Given the description of an element on the screen output the (x, y) to click on. 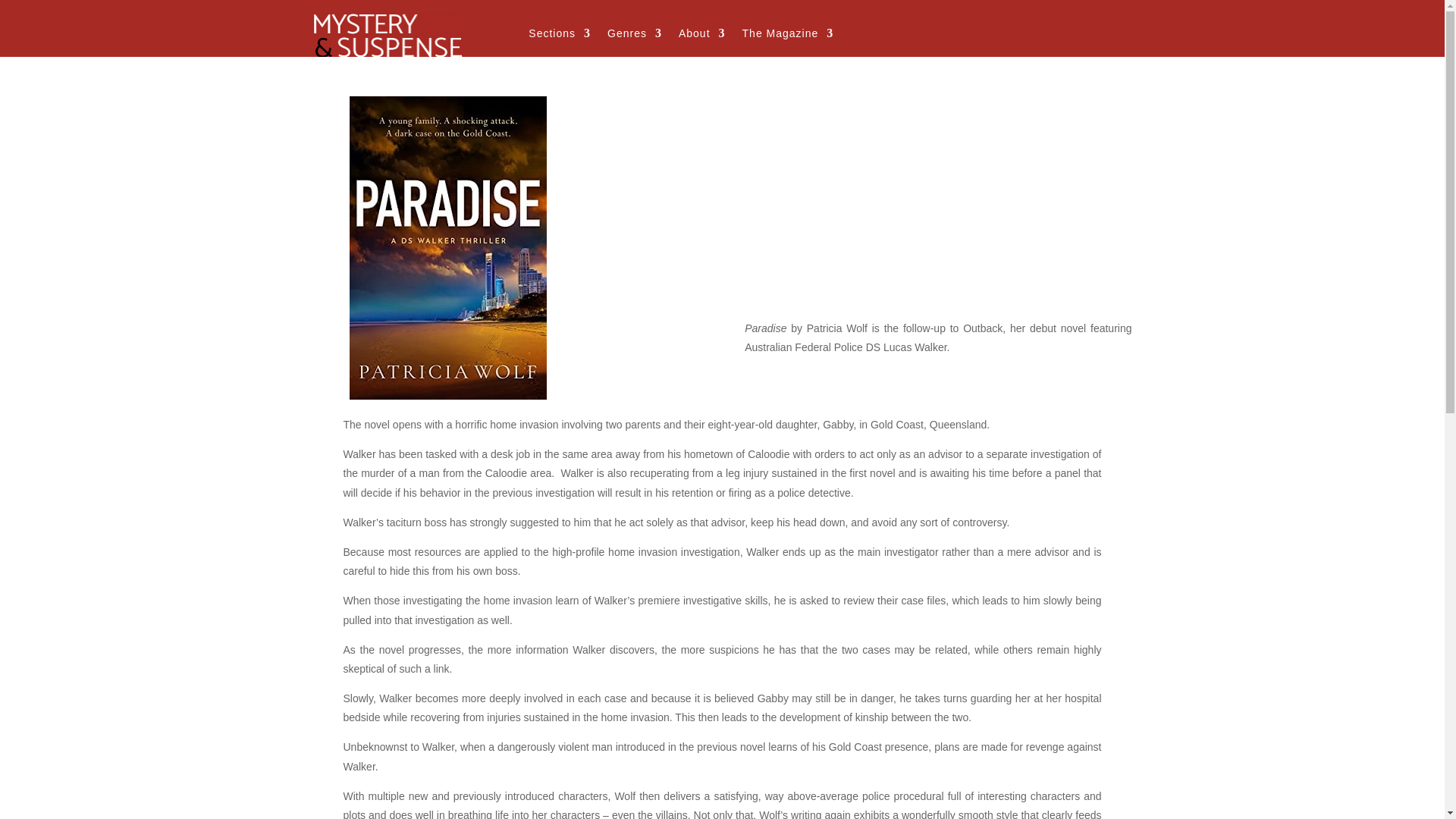
Mystery and Suspense Magazine (388, 33)
Genres (634, 36)
Sections (559, 36)
About (701, 36)
The Magazine (788, 36)
